Given the description of an element on the screen output the (x, y) to click on. 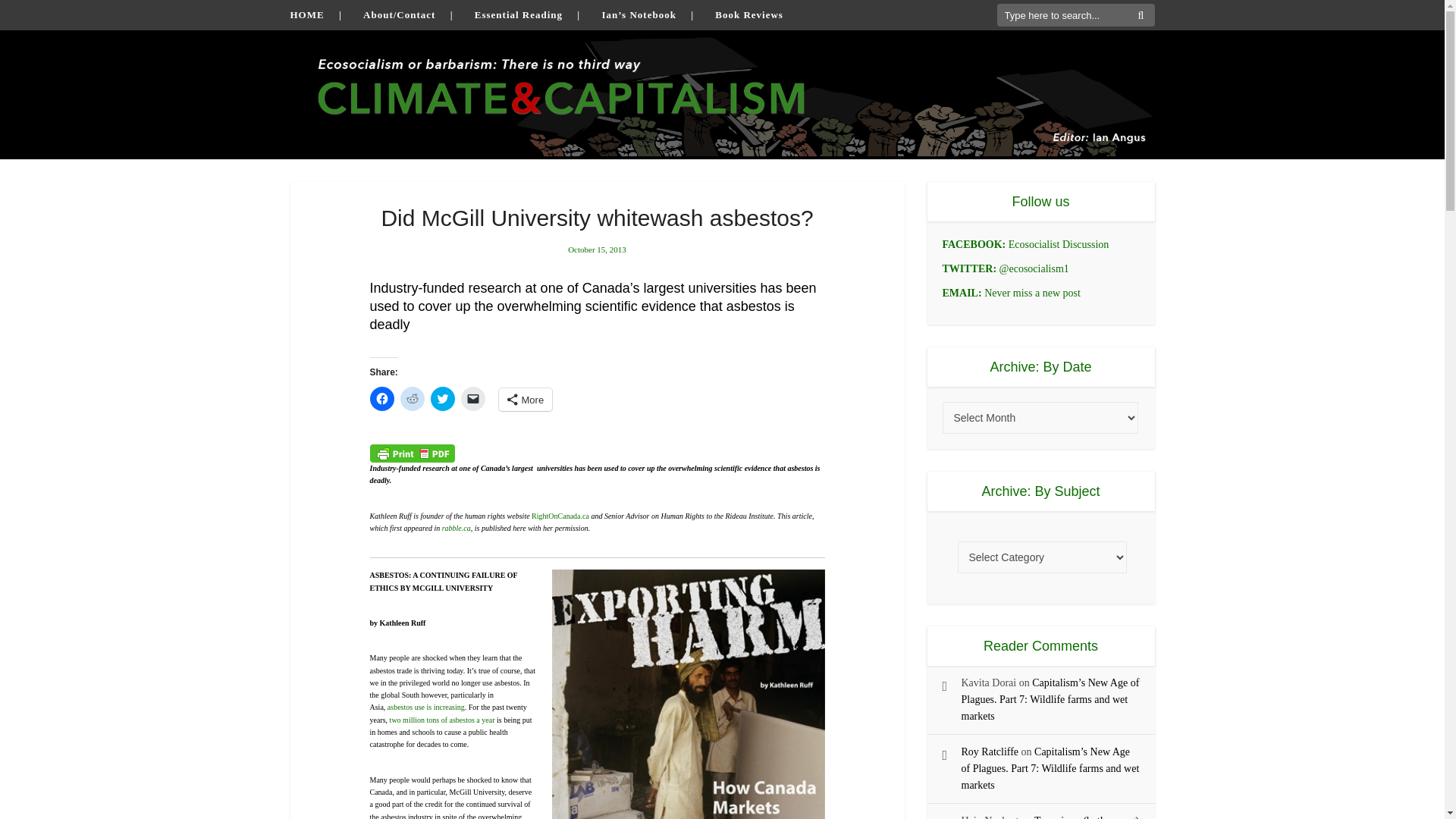
Essential Reading (518, 14)
two million tons of asbestos a year (442, 719)
Click to share on Reddit (412, 398)
Book Reviews (748, 14)
More (526, 399)
asbestos use is increasing (425, 706)
RightOnCanada.ca (560, 515)
Click to share on Twitter (442, 398)
Type here to search... (1074, 15)
Click to email a link to a friend (472, 398)
